Given the description of an element on the screen output the (x, y) to click on. 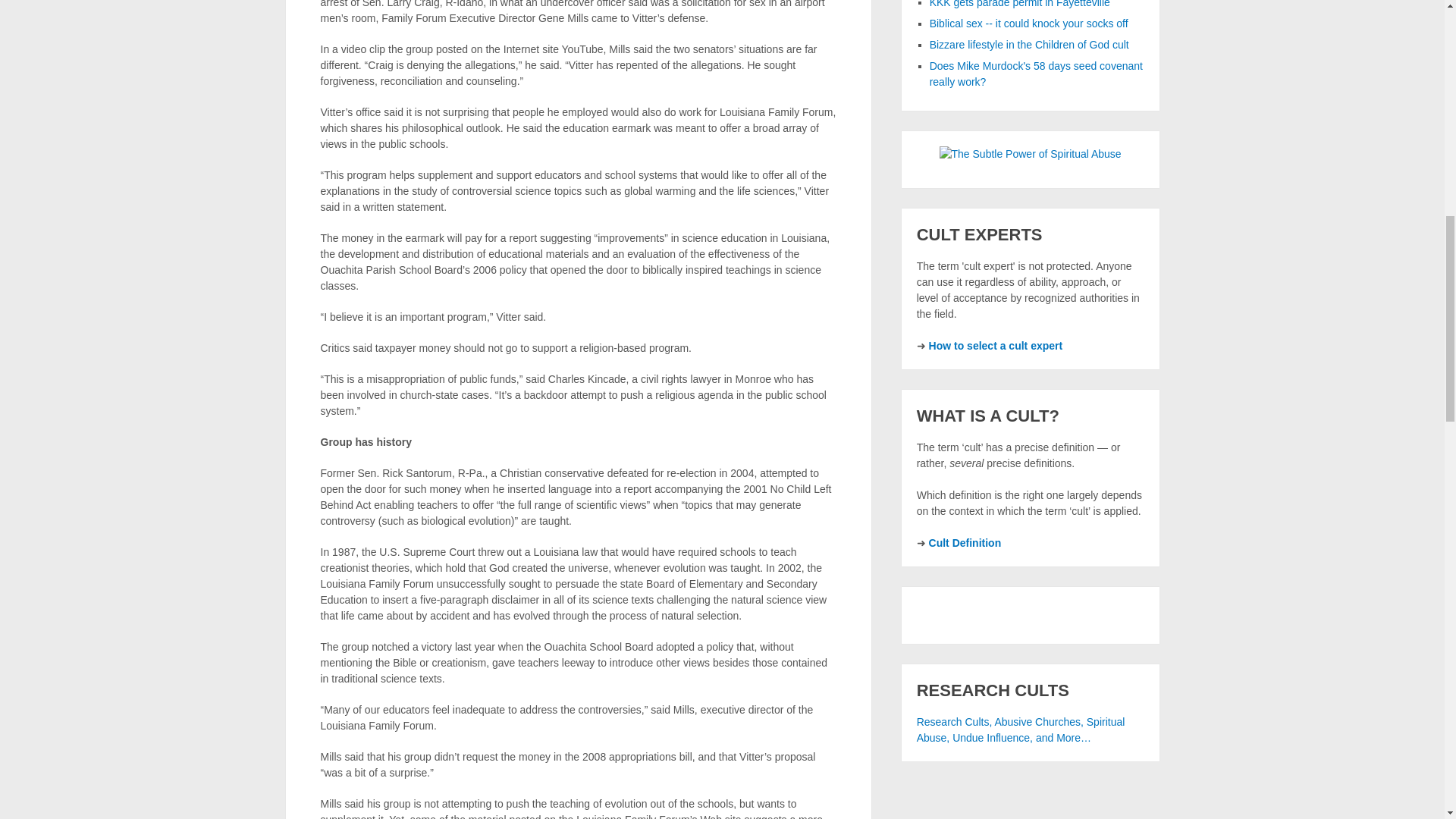
KKK gets parade permit in Fayetteville (1019, 4)
How to select a cult expert (995, 345)
Cult Definition (964, 542)
Biblical sex -- it could knock your socks off (1029, 23)
Bizzare lifestyle in the Children of God cult (1029, 44)
Does Mike Murdock's 58 days seed covenant really work? (1036, 73)
